Given the description of an element on the screen output the (x, y) to click on. 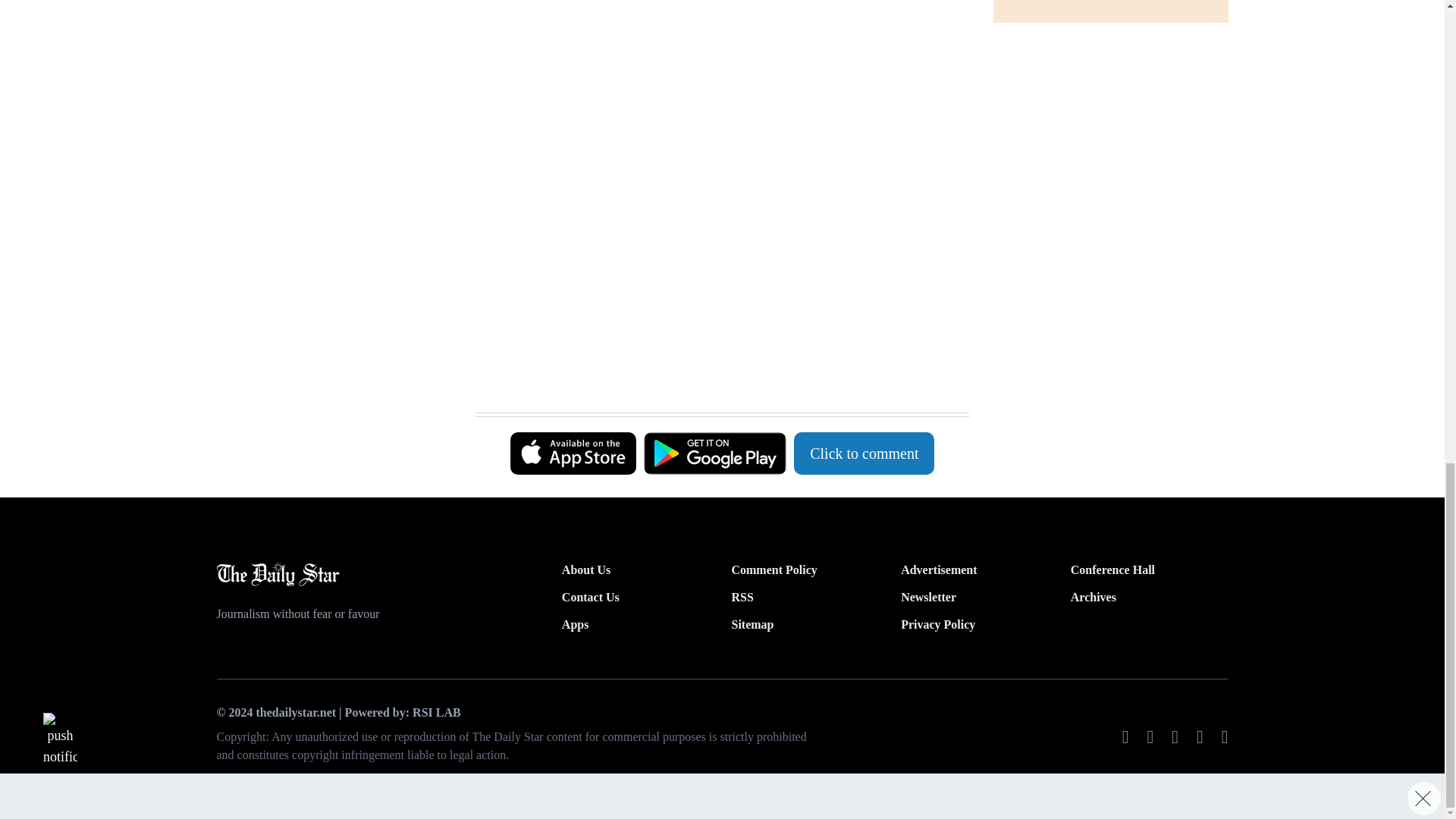
3rd party ad content (714, 374)
3rd party ad content (713, 62)
3rd party ad content (713, 234)
